Given the description of an element on the screen output the (x, y) to click on. 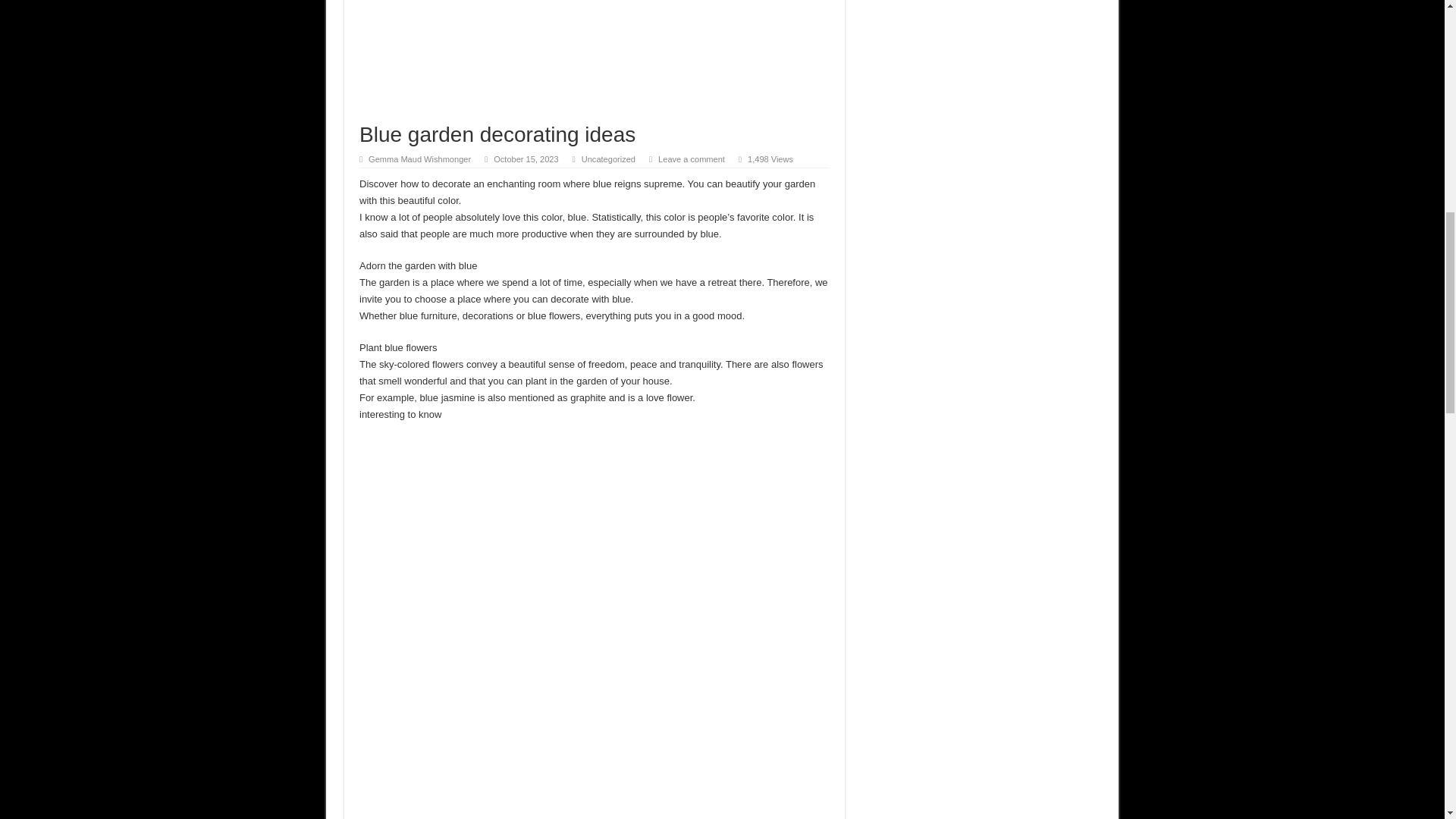
Uncategorized (607, 158)
Gemma Maud Wishmonger (419, 158)
Leave a comment (691, 158)
Scroll To Top (1421, 60)
Advertisement (594, 53)
